Given the description of an element on the screen output the (x, y) to click on. 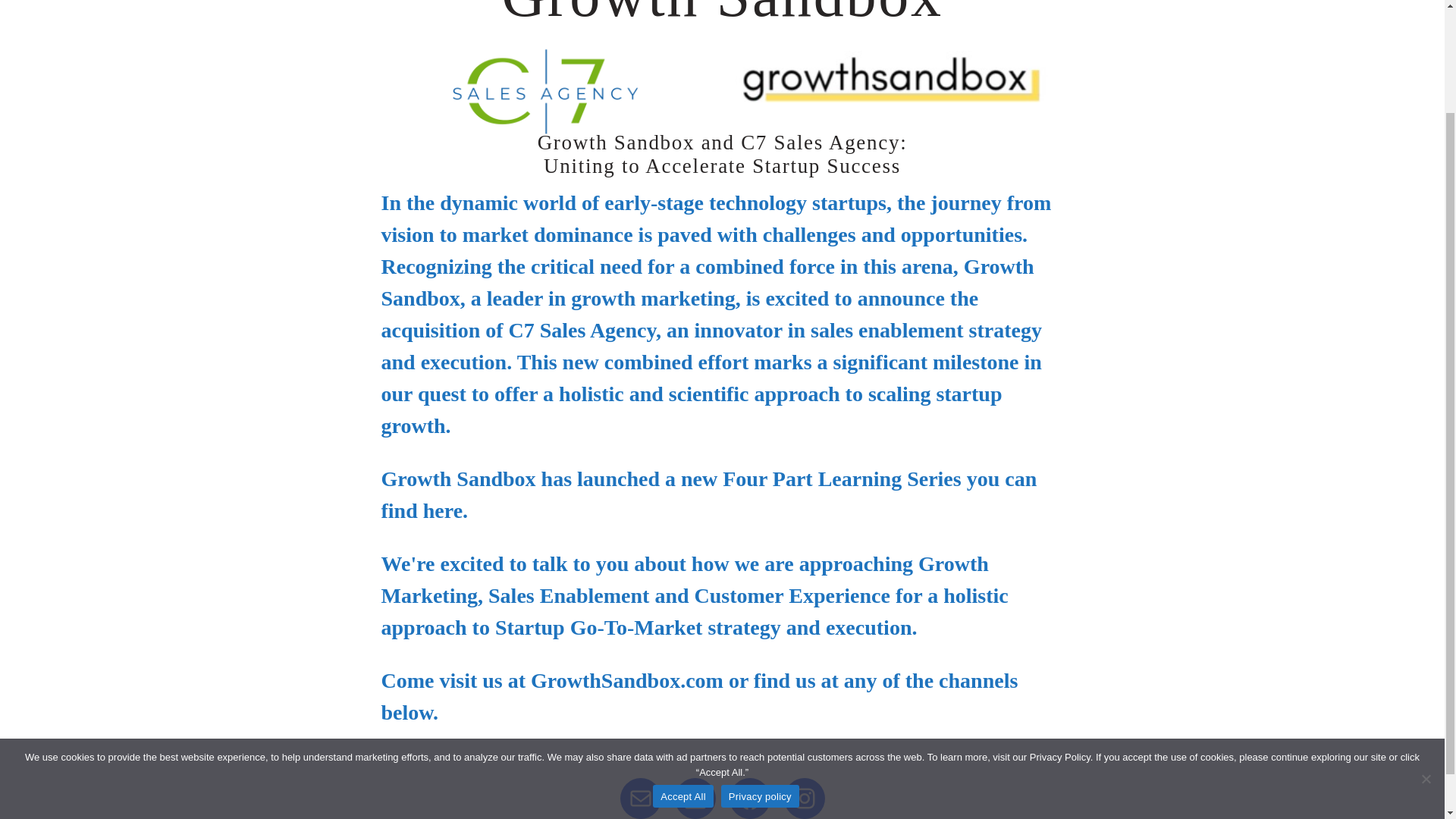
No (1425, 652)
Privacy policy (759, 670)
Accept All (682, 670)
GrowthSandbox.com (627, 680)
Four Part Learning Series you can find here (708, 494)
